Given the description of an element on the screen output the (x, y) to click on. 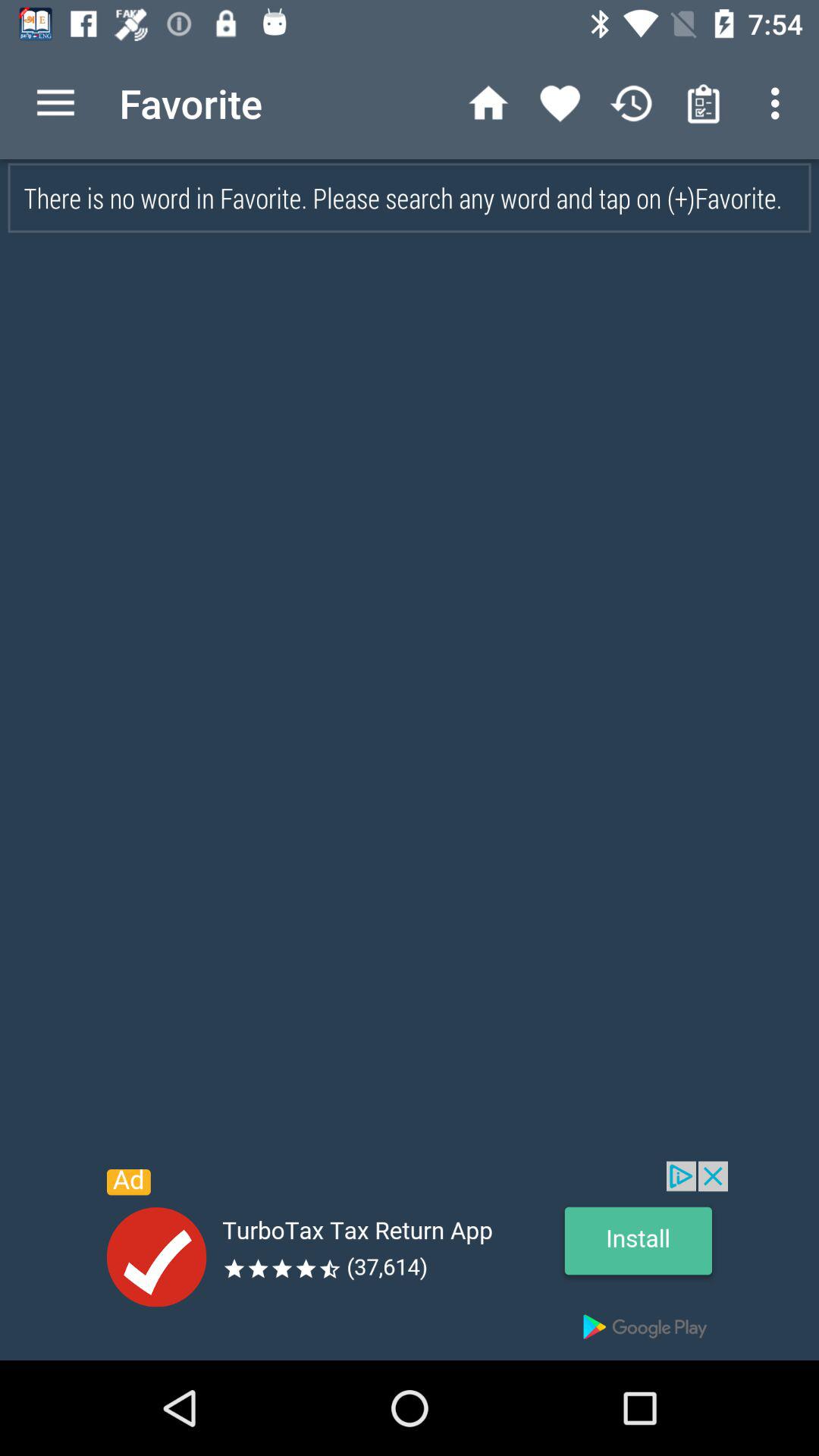
click advertisement (409, 1260)
